Given the description of an element on the screen output the (x, y) to click on. 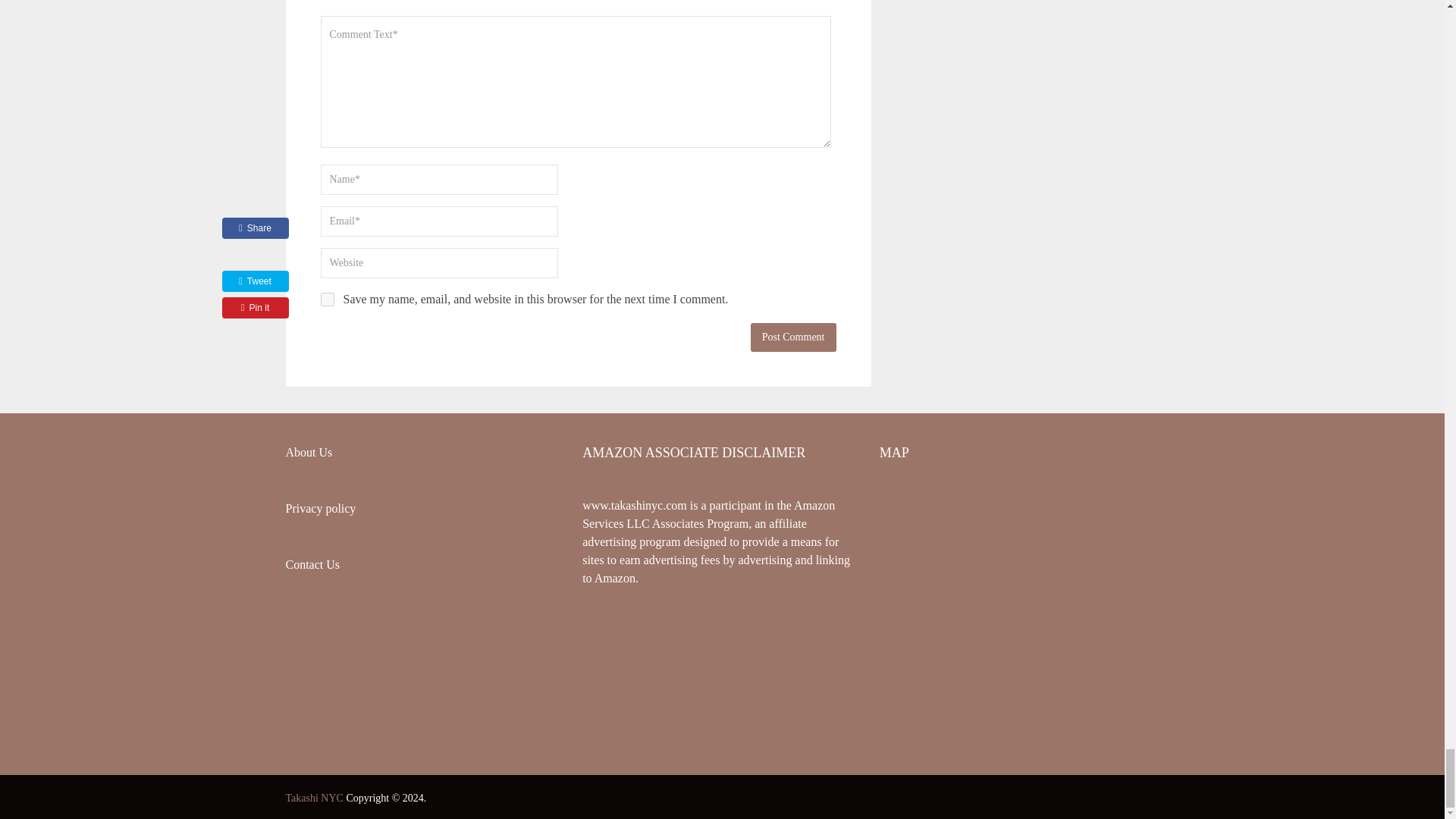
yes (326, 299)
Post Comment (793, 337)
